Given the description of an element on the screen output the (x, y) to click on. 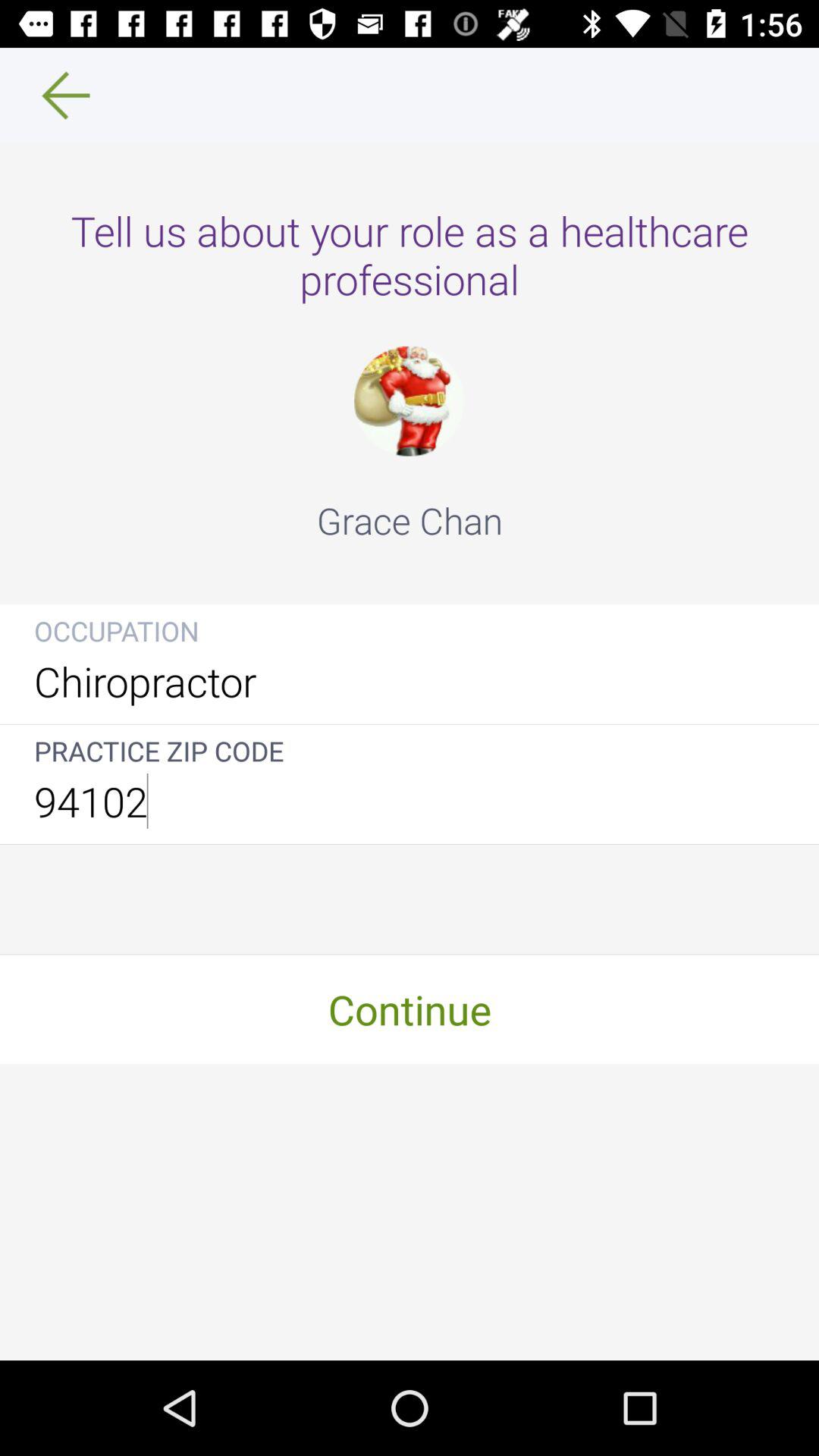
choose item below practice zip code item (409, 800)
